Given the description of an element on the screen output the (x, y) to click on. 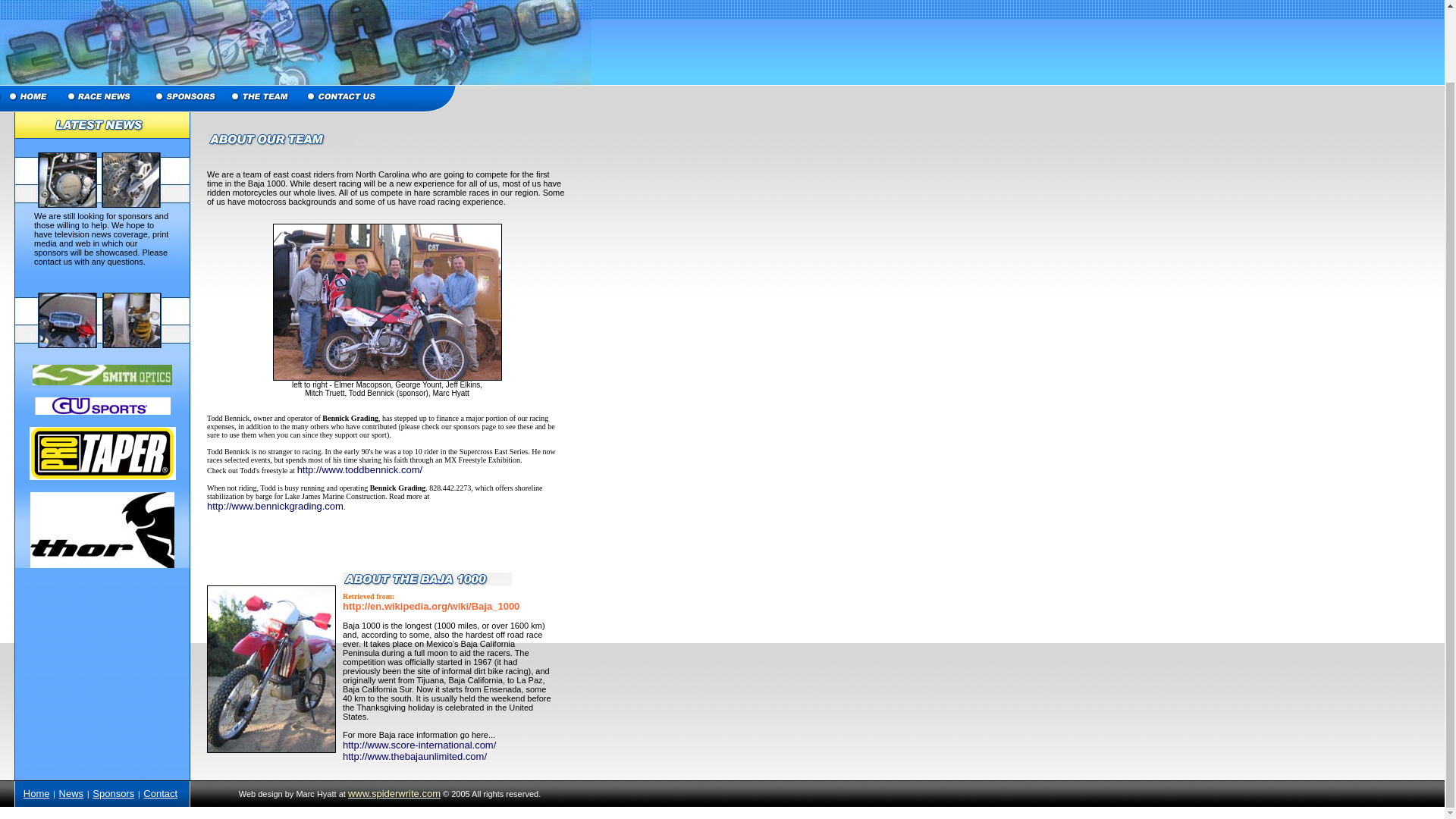
Sponsors (113, 793)
www.spiderwrite.com (394, 793)
News (71, 793)
Home (36, 793)
Contact (159, 793)
